Given the description of an element on the screen output the (x, y) to click on. 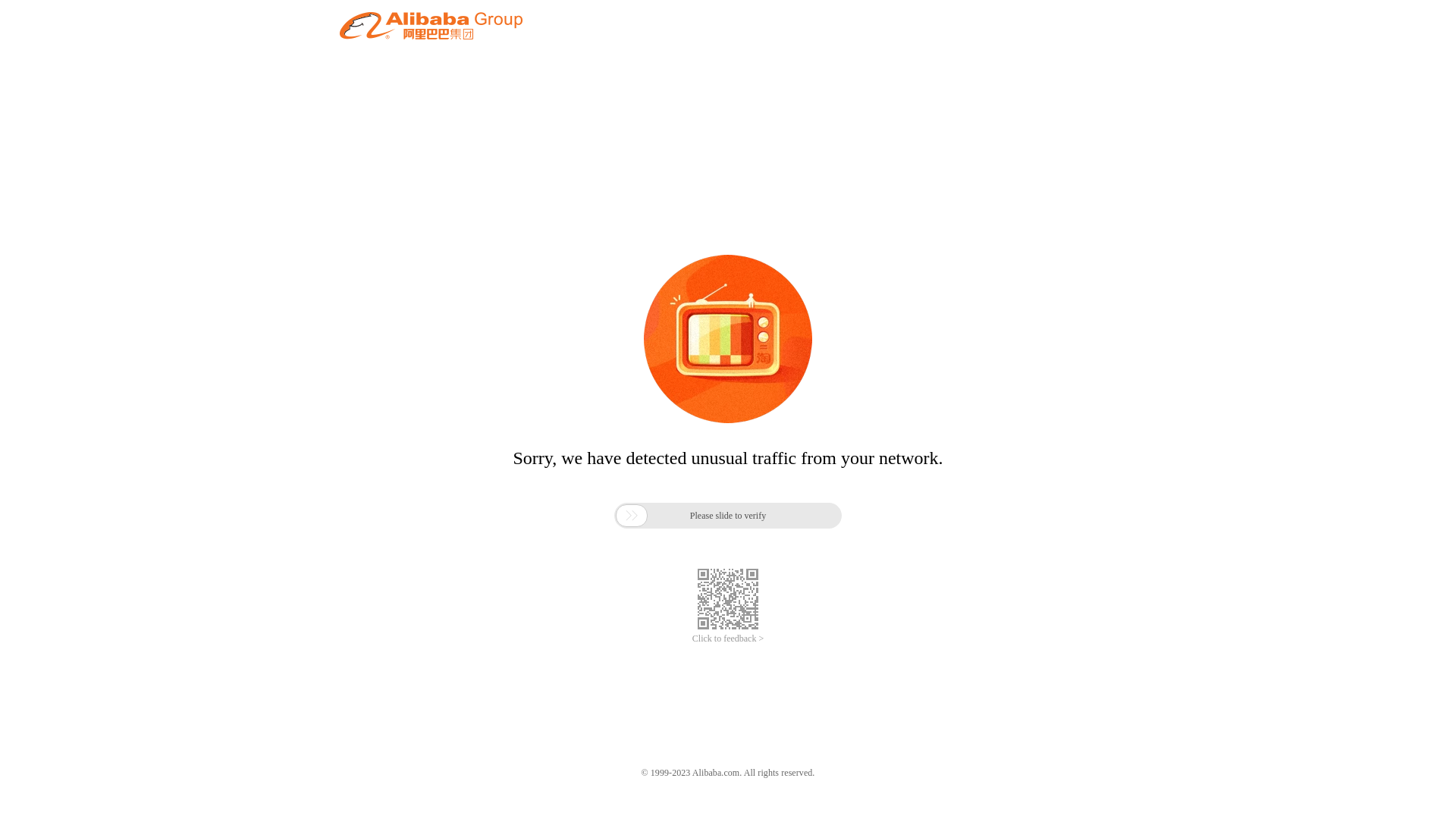
Click to feedback > Element type: text (727, 638)
